Given the description of an element on the screen output the (x, y) to click on. 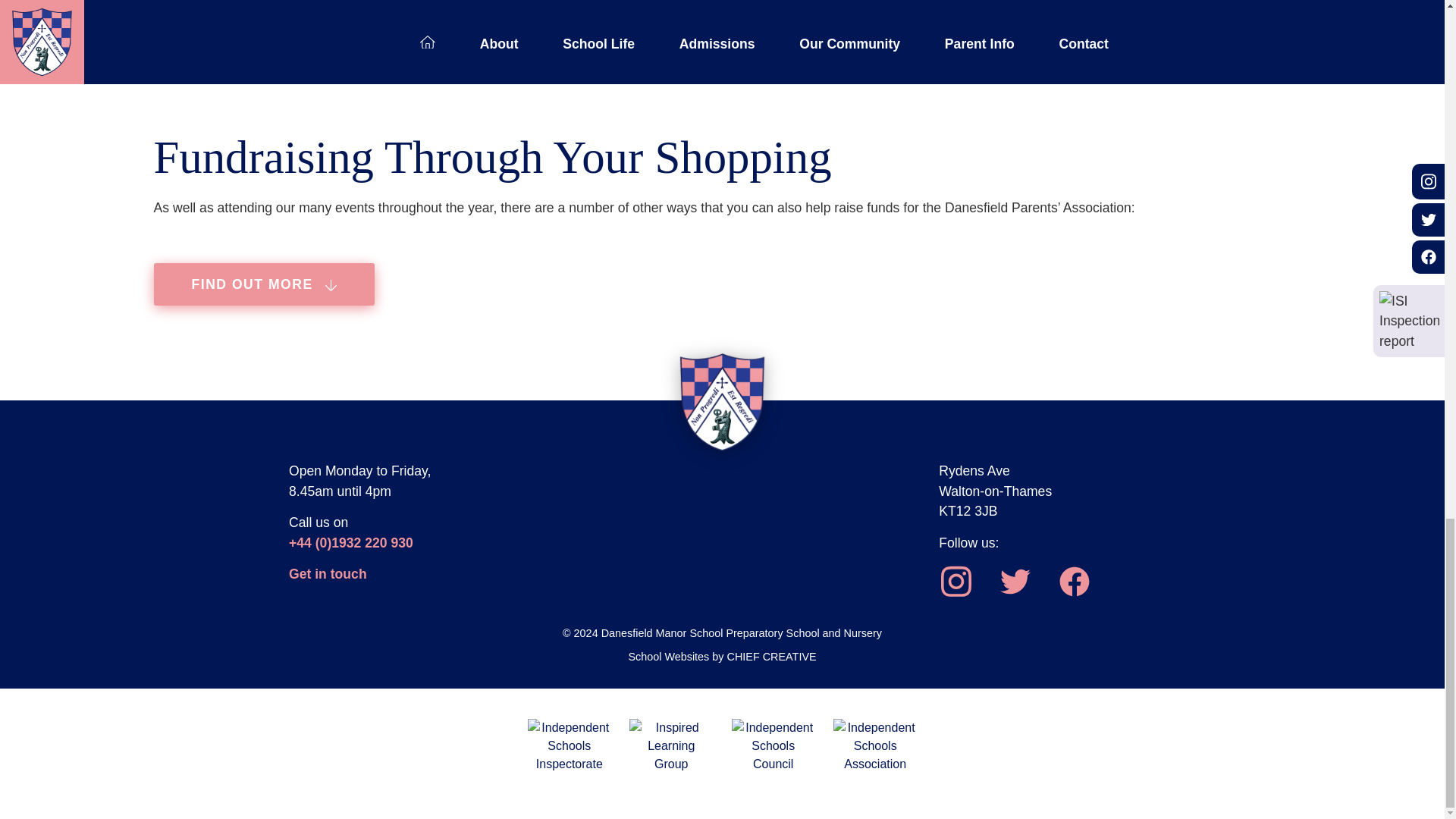
Facebook (1073, 580)
Instagram (955, 580)
Twitter (1013, 580)
